Given the description of an element on the screen output the (x, y) to click on. 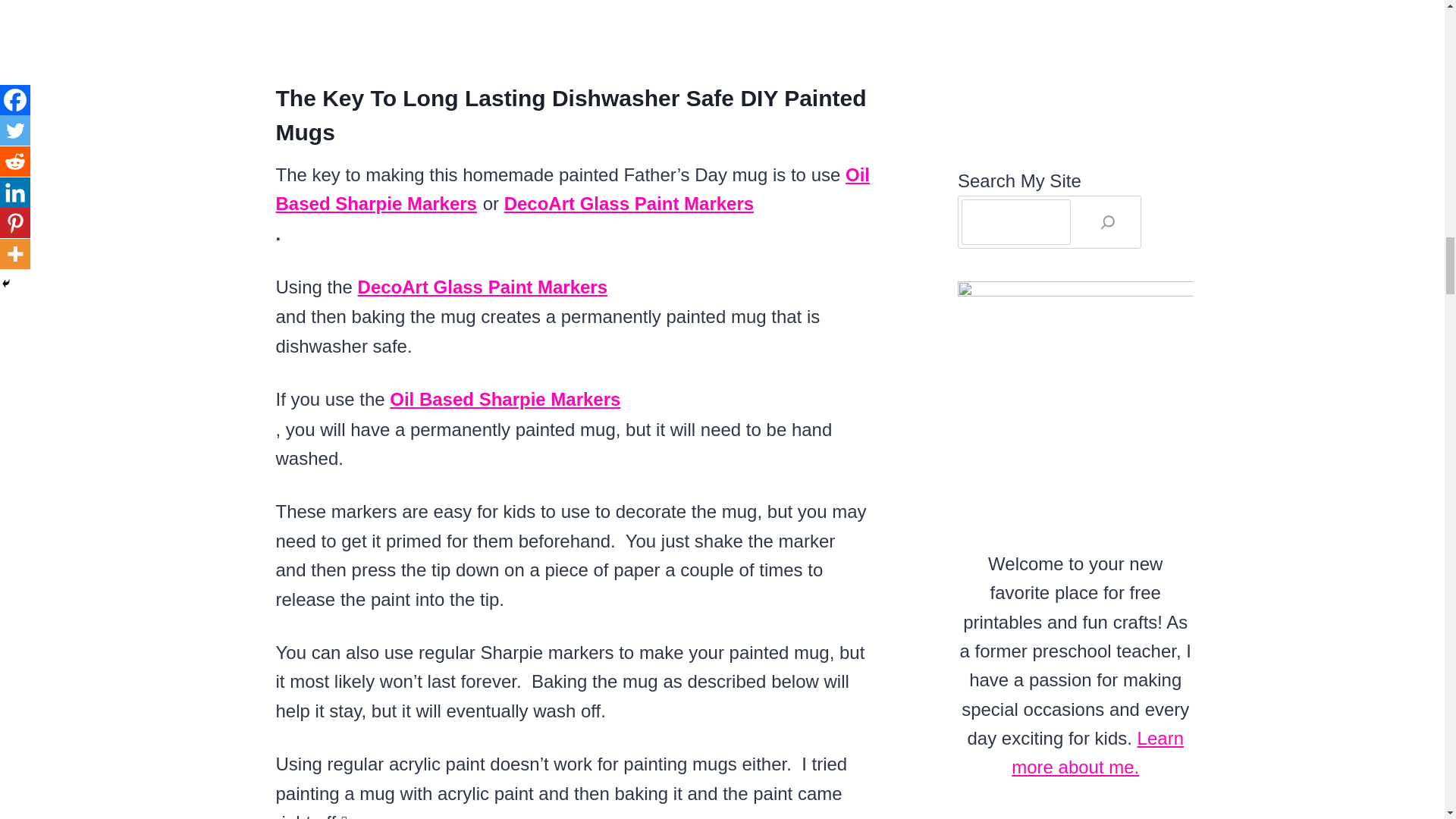
Oil Based Sharpie Markers (573, 188)
DecoArt Glass Paint Markers (628, 203)
Oil Based Sharpie Markers (505, 399)
DecoArt Glass Paint Markers (482, 286)
